Given the description of an element on the screen output the (x, y) to click on. 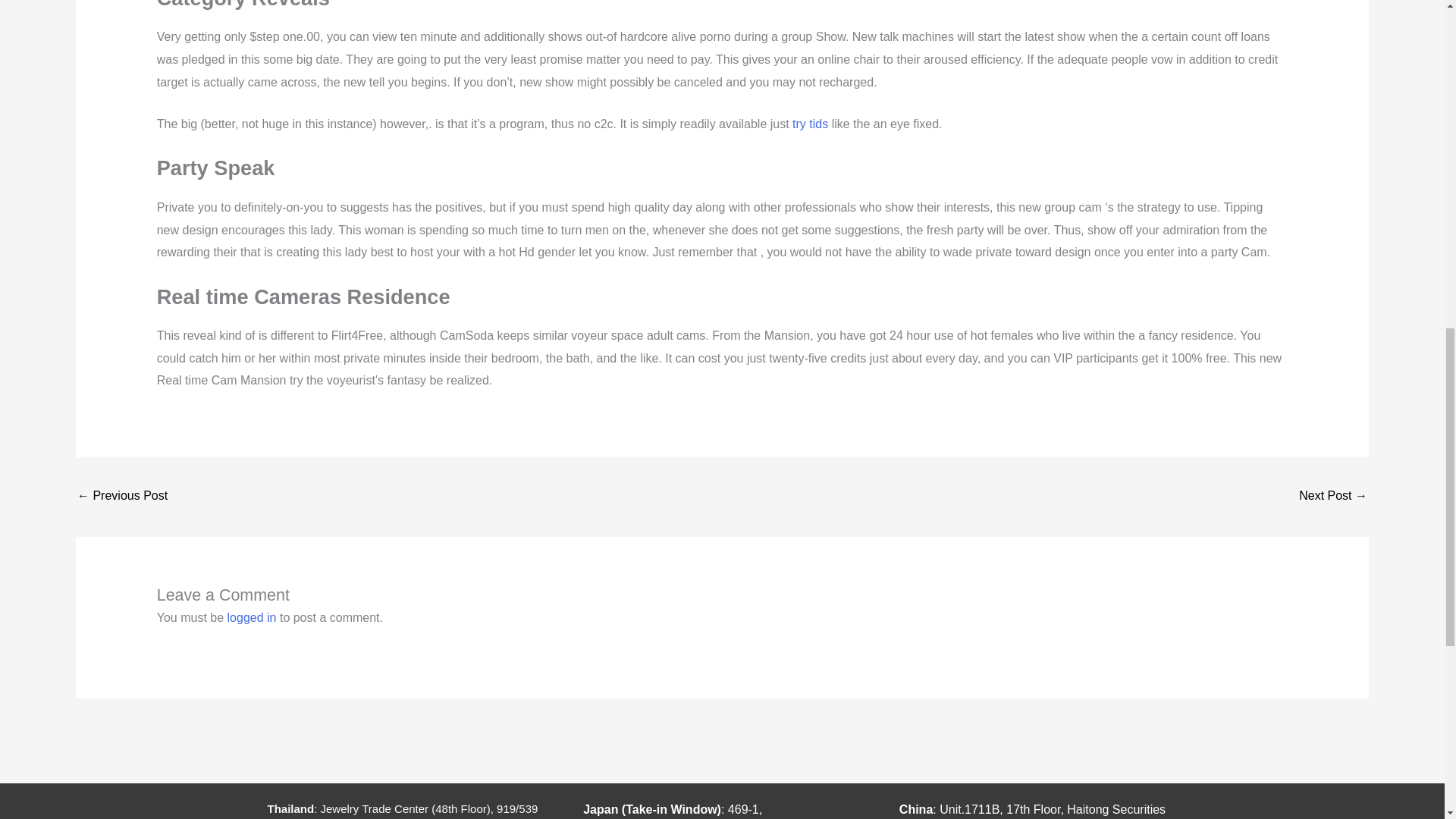
try tids (810, 123)
logged in (251, 617)
